Given the description of an element on the screen output the (x, y) to click on. 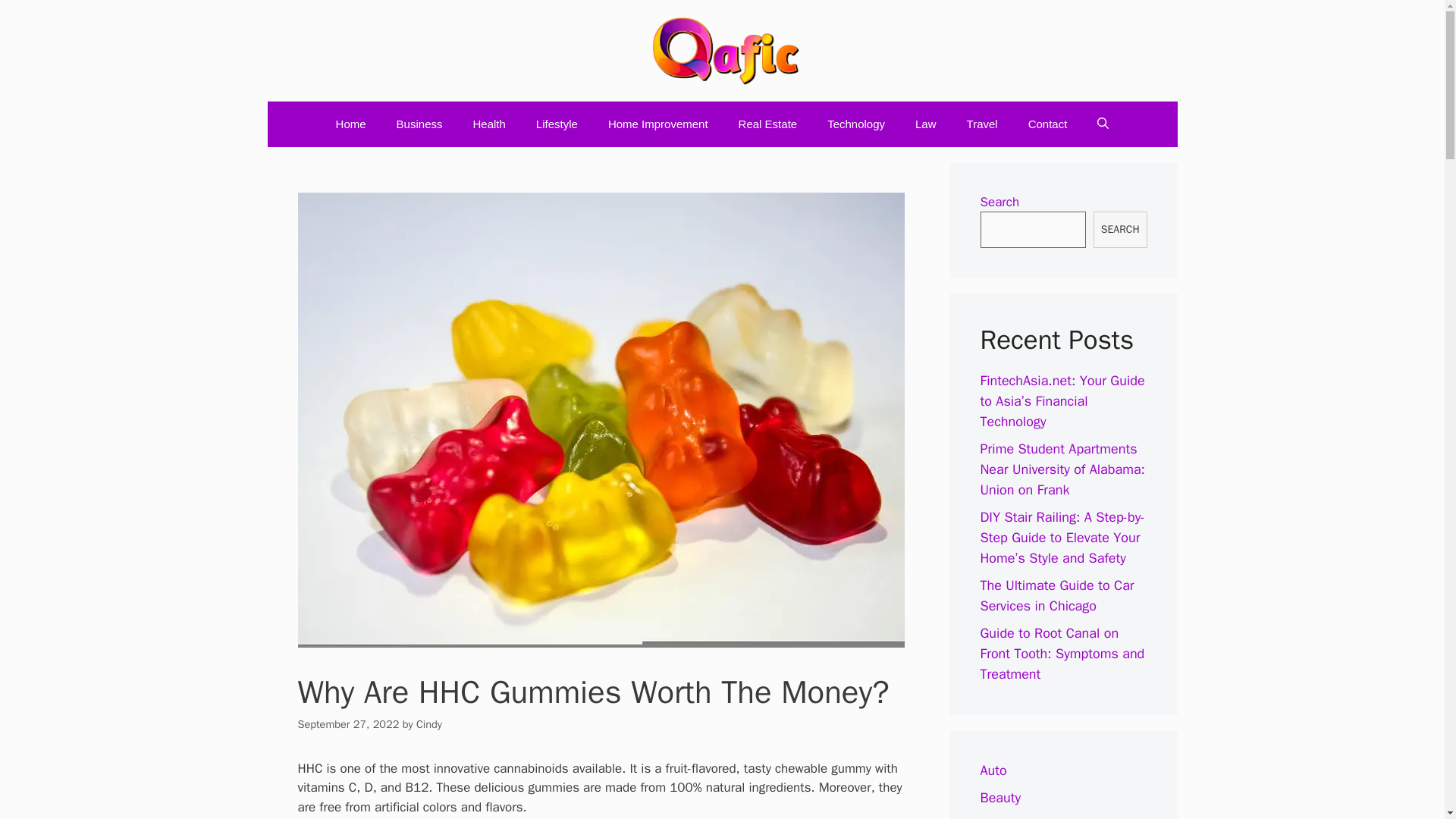
Business (419, 124)
Business (1007, 817)
Technology (855, 124)
Contact (1048, 124)
SEARCH (1120, 229)
Real Estate (767, 124)
Home Improvement (657, 124)
Beauty (999, 797)
Lifestyle (556, 124)
Guide to Root Canal on Front Tooth: Symptoms and Treatment (1061, 653)
Health (488, 124)
Law (925, 124)
View all posts by Cindy (429, 724)
Auto (992, 770)
